Given the description of an element on the screen output the (x, y) to click on. 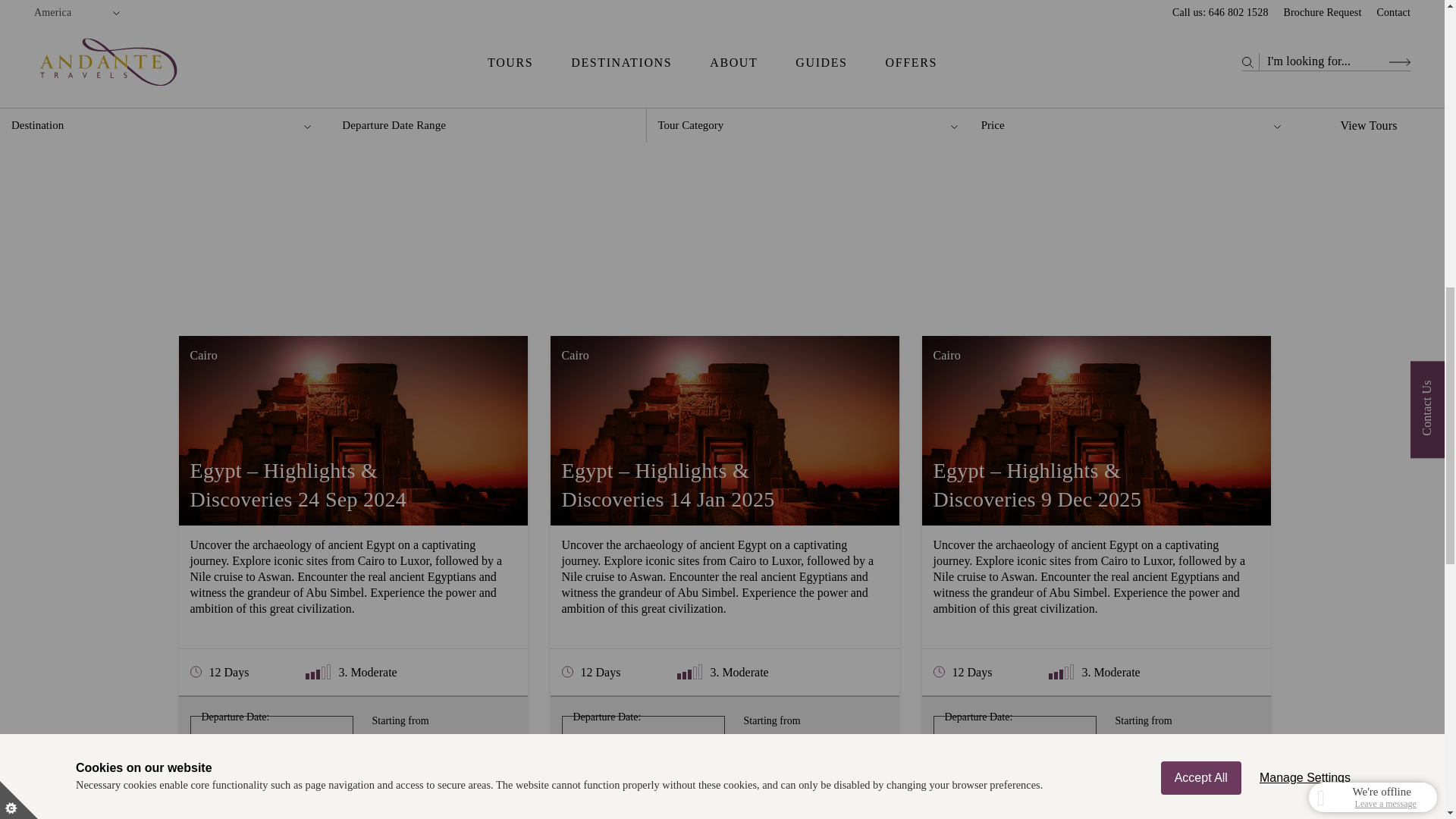
Manage Settings (1304, 17)
Accept All (1200, 32)
Home (226, 26)
View Full Details (1096, 794)
View Full Details (723, 794)
View Full Details (352, 794)
Guides (287, 26)
